Given the description of an element on the screen output the (x, y) to click on. 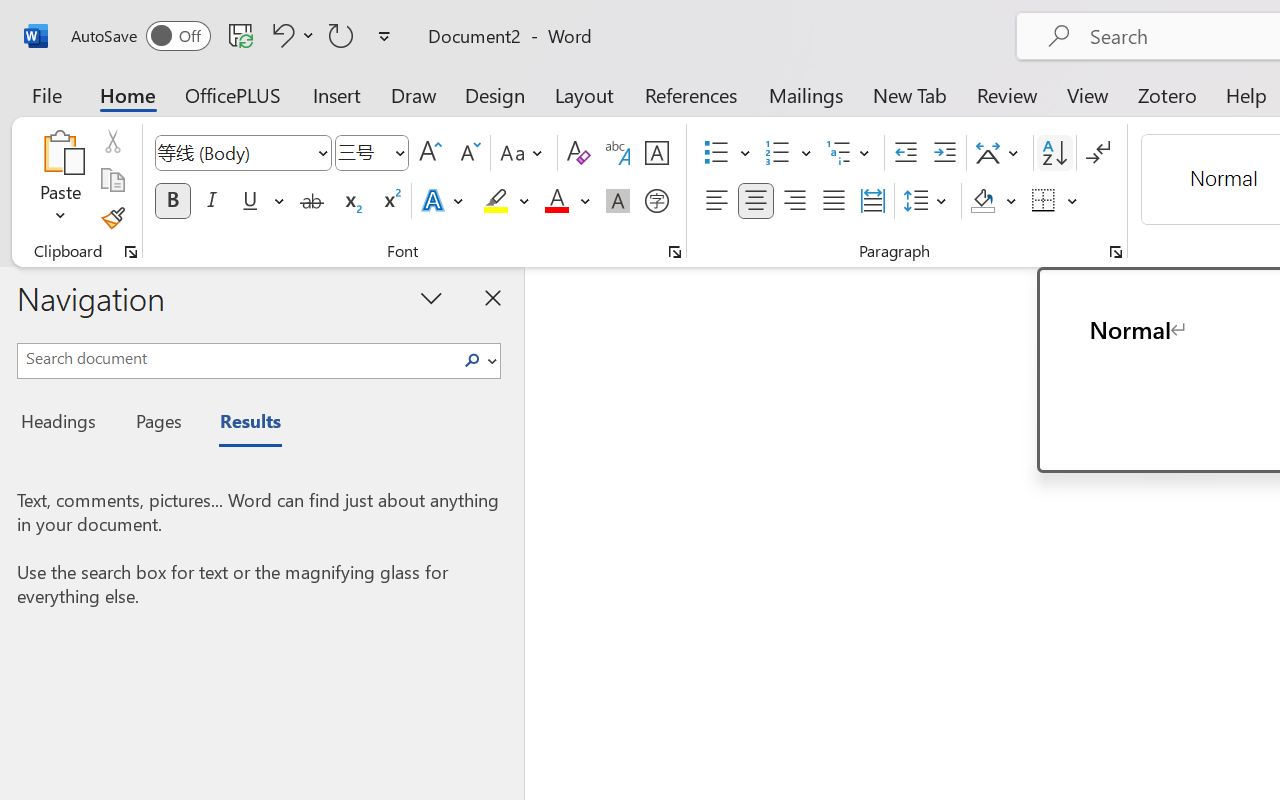
Quick Access Toolbar (233, 36)
Center (756, 201)
Font Color (567, 201)
AutoSave (140, 35)
Task Pane Options (431, 297)
Home (127, 94)
Headings (64, 424)
Increase Indent (944, 153)
Character Shading (618, 201)
Draw (413, 94)
Shrink Font (468, 153)
Layout (584, 94)
Search (471, 360)
Clear Formatting (578, 153)
